Given the description of an element on the screen output the (x, y) to click on. 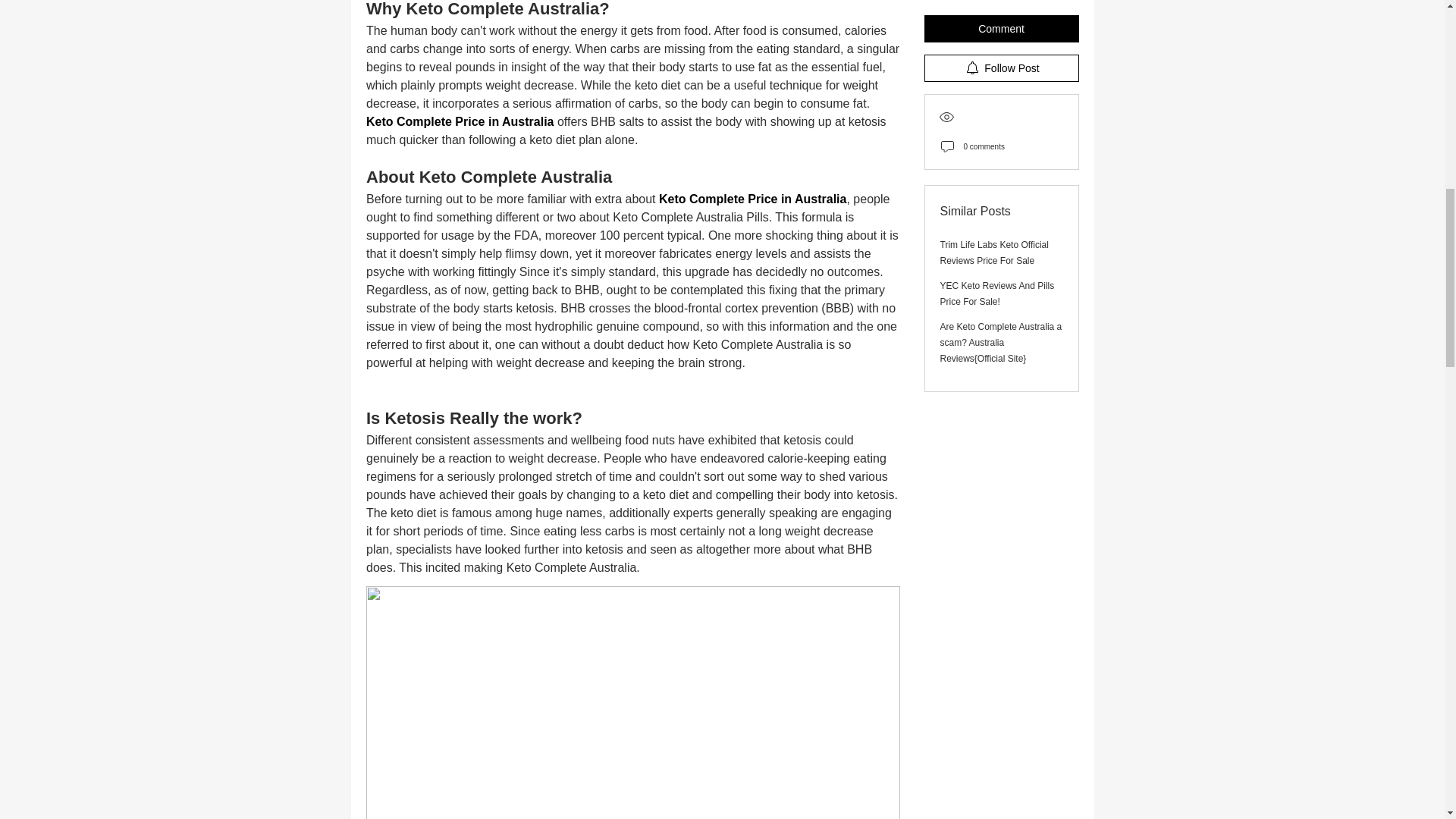
Keto Complete Price in Australia (751, 198)
Keto Complete Price in Australia (459, 121)
